Given the description of an element on the screen output the (x, y) to click on. 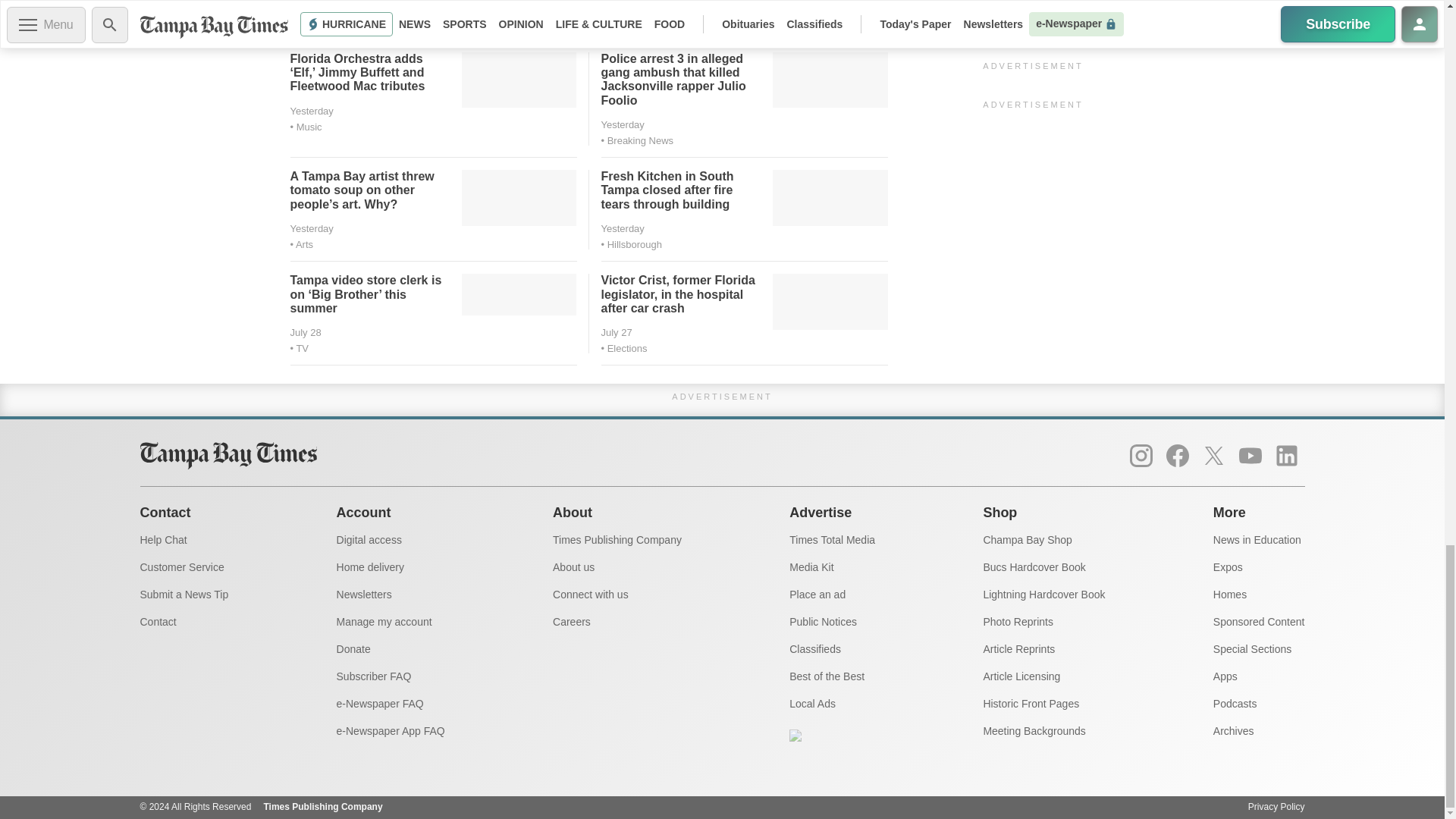
2024-07-29T14:00:00Z (311, 228)
2024-07-29T18:27:17.476Z (621, 124)
2024-07-30T10:00:00Z (621, 7)
2024-07-28T13:00:00Z (304, 332)
2024-07-29T11:53:30.870Z (621, 228)
2024-07-30T13:37:50.498Z (311, 7)
2024-07-29T20:24:52.441Z (311, 111)
